Given the description of an element on the screen output the (x, y) to click on. 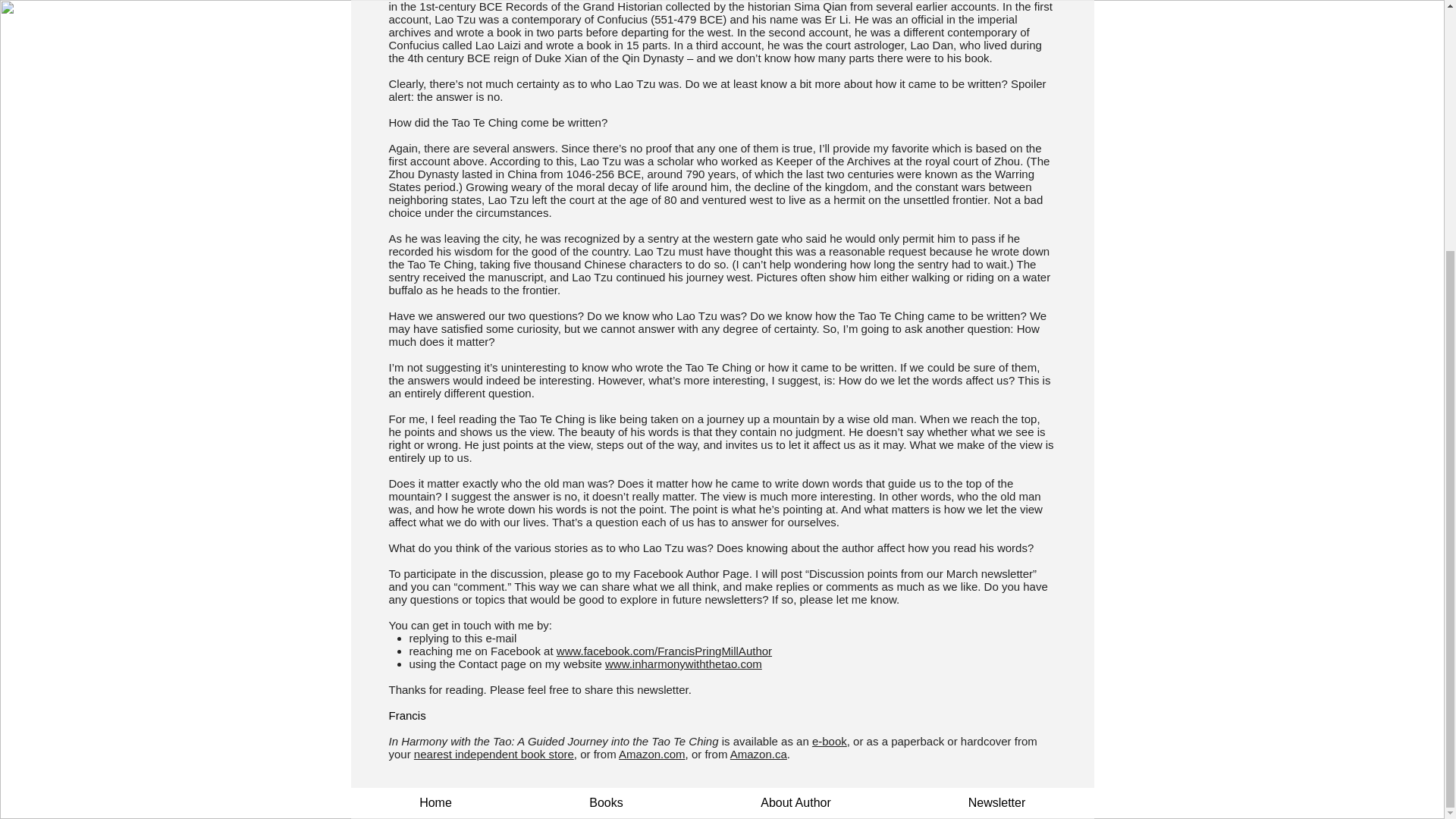
Home (434, 803)
Amazon.com (651, 753)
Books (605, 803)
Amazon.ca (758, 753)
e-book (829, 740)
Newsletter (996, 803)
www.inharmonywiththetao.com (683, 663)
About Author (795, 803)
nearest independent book store (493, 753)
